Given the description of an element on the screen output the (x, y) to click on. 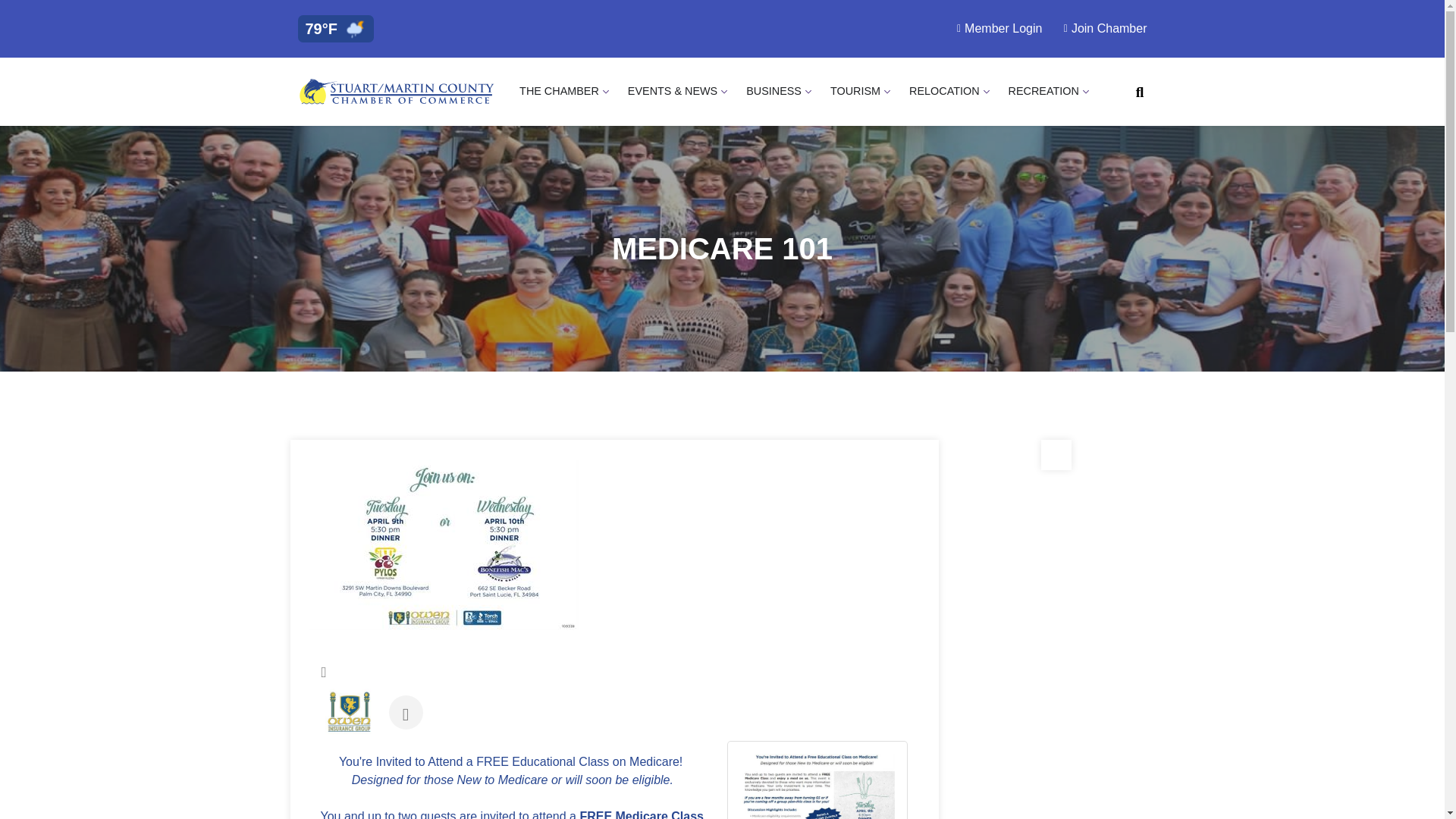
TOURISM (854, 91)
BUSINESS (773, 91)
THE CHAMBER (558, 91)
RELOCATION (943, 91)
RECREATION (1043, 91)
Join Chamber (1100, 28)
Member Login (994, 28)
